Given the description of an element on the screen output the (x, y) to click on. 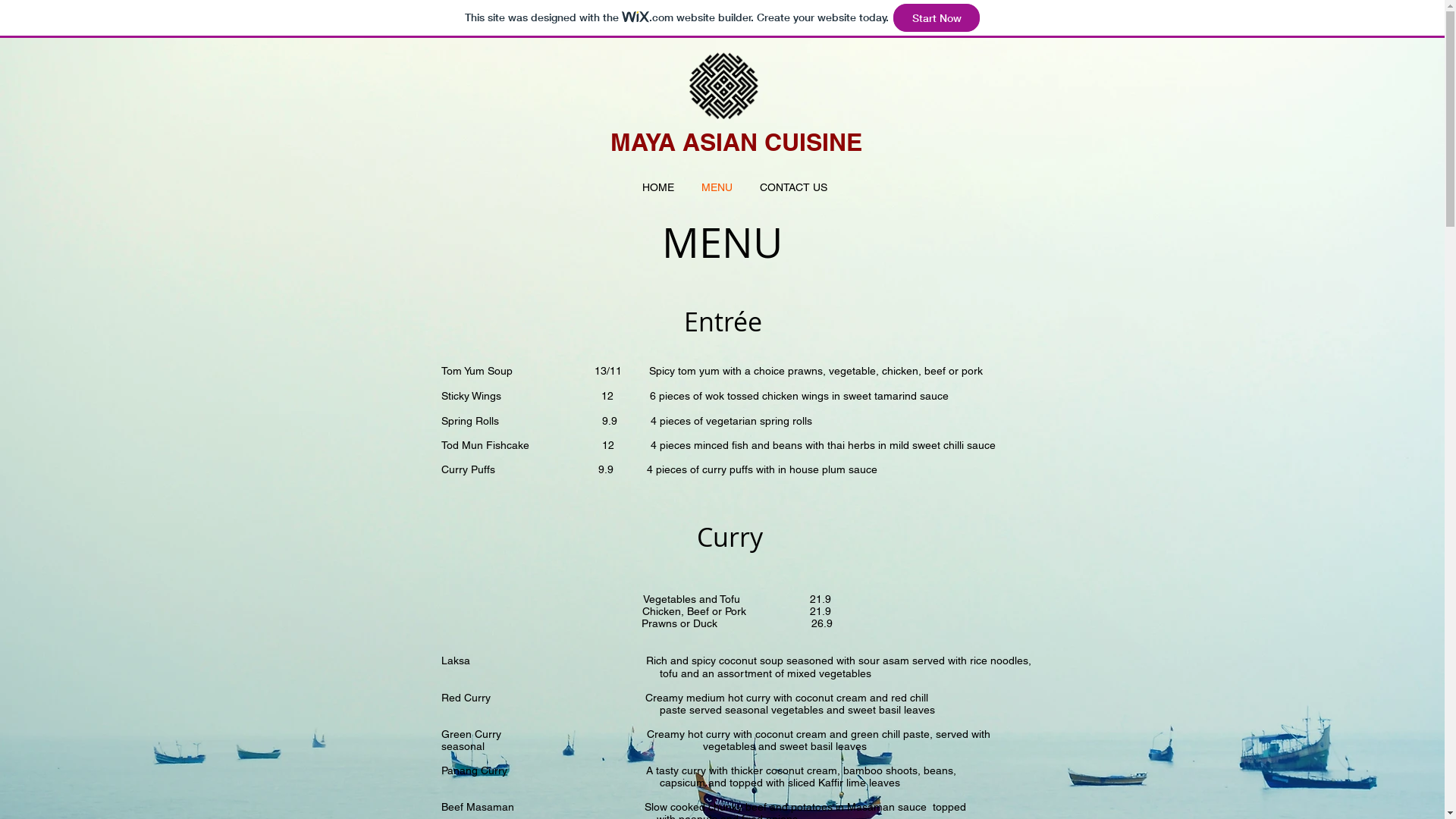
CONTACT US Element type: text (793, 187)
MENU Element type: text (716, 187)
MAYA ASIAN CUISINE Element type: text (735, 141)
HOME Element type: text (657, 187)
